Given the description of an element on the screen output the (x, y) to click on. 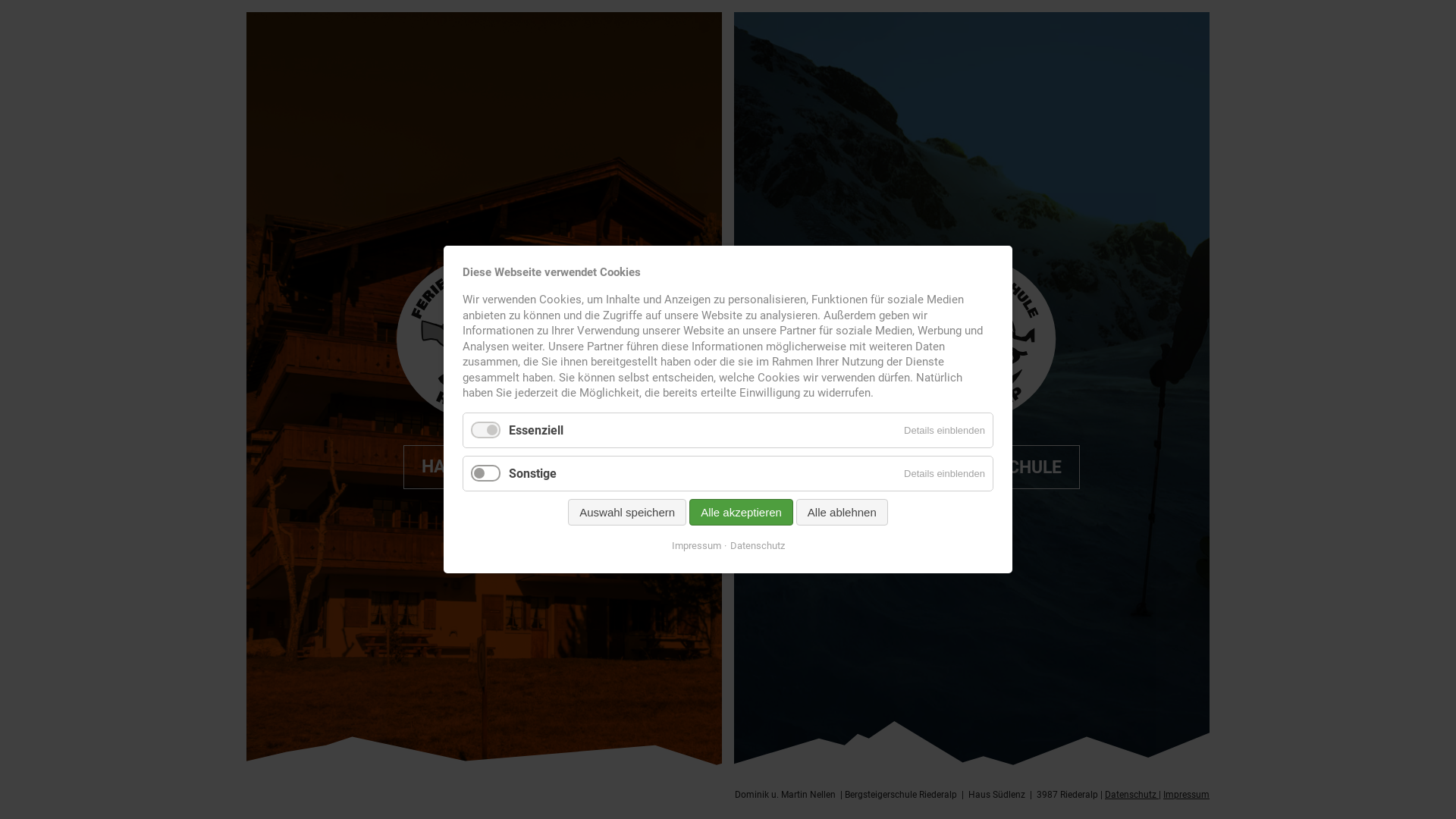
Datenschutz Element type: text (753, 545)
Impressum Element type: text (1186, 794)
Datenschutz Element type: text (1131, 794)
Details einblenden Element type: text (944, 430)
Details einblenden Element type: text (944, 473)
Alle akzeptieren Element type: text (741, 511)
Impressum Element type: text (696, 545)
Alle ablehnen Element type: text (842, 511)
BERGSTEIGERSCHULE Element type: text (971, 467)
Auswahl speichern Element type: text (626, 511)
